Given the description of an element on the screen output the (x, y) to click on. 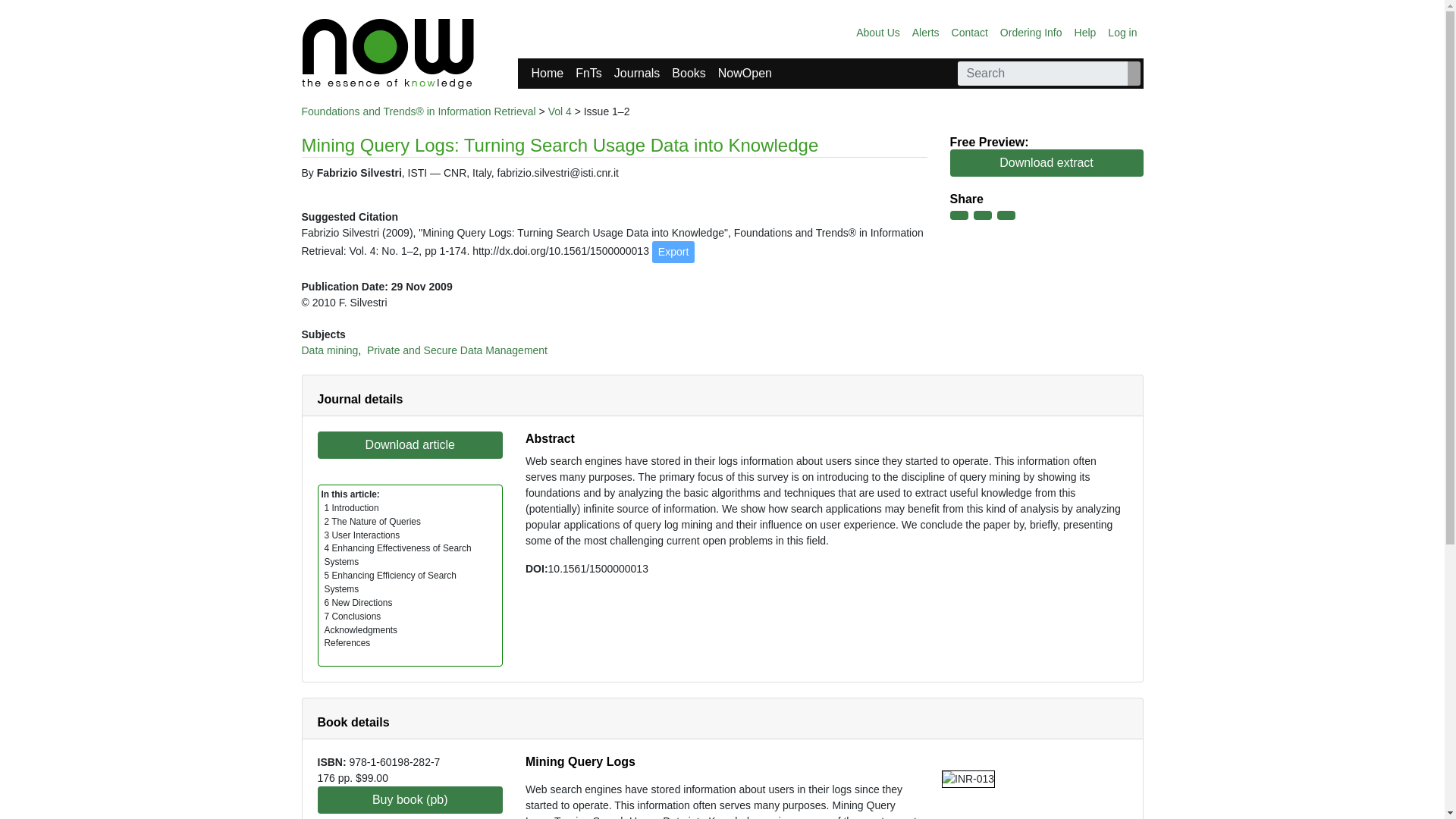
About Us (877, 32)
Books (688, 73)
Help (1085, 32)
LinkedIn (1004, 215)
Journal details (360, 399)
Download extract (1045, 162)
Log in (1122, 32)
Book details (352, 721)
Private and Secure Data Management (456, 349)
Home (546, 73)
Facebook (958, 215)
Vol 4 (560, 111)
Journals (636, 73)
FnTs (588, 73)
Export (673, 251)
